Given the description of an element on the screen output the (x, y) to click on. 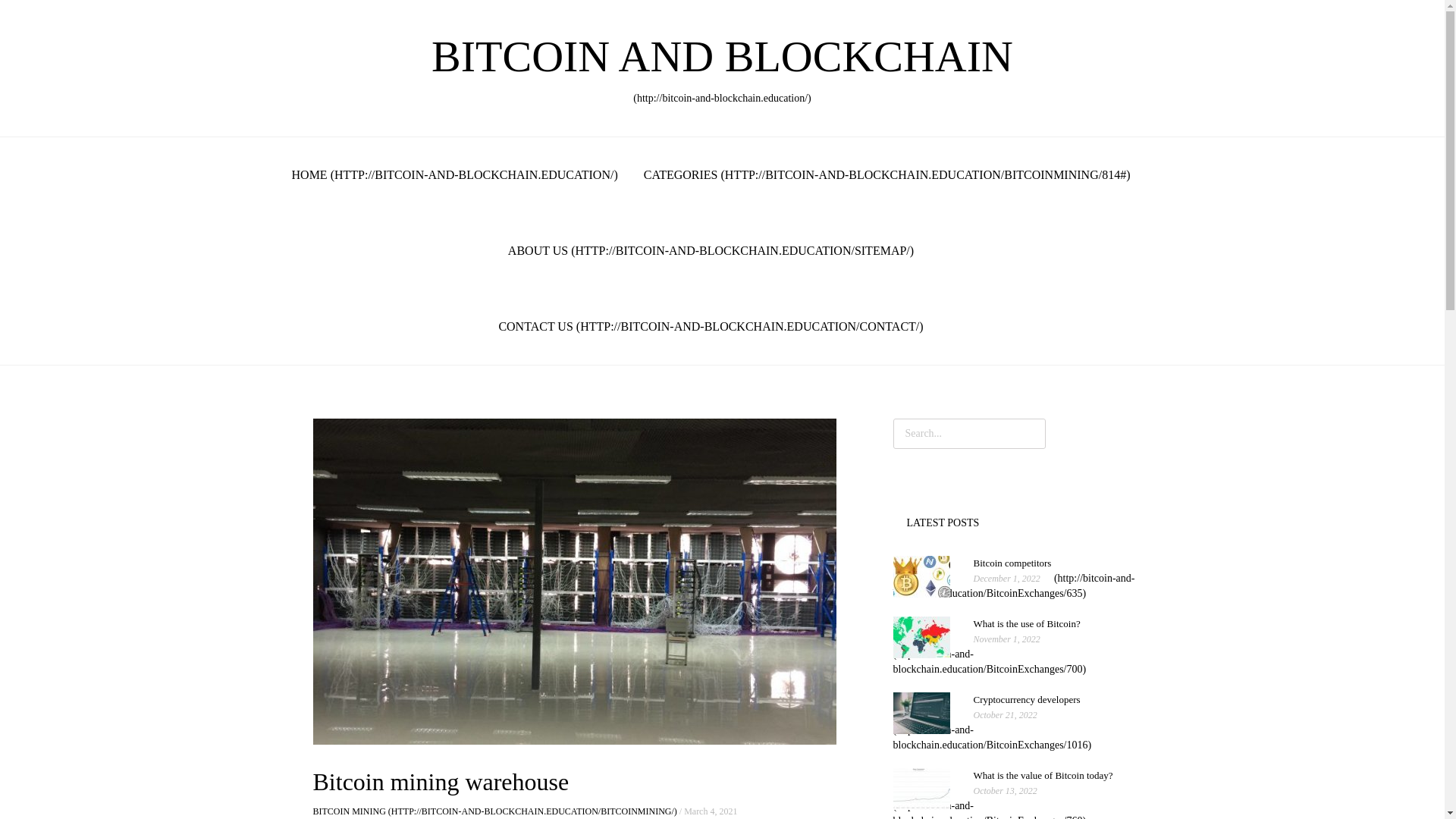
CATEGORIES (887, 174)
HOME (989, 653)
BITCOIN MINING (1003, 801)
ABOUT US (454, 174)
CONTACT US (495, 810)
